Given the description of an element on the screen output the (x, y) to click on. 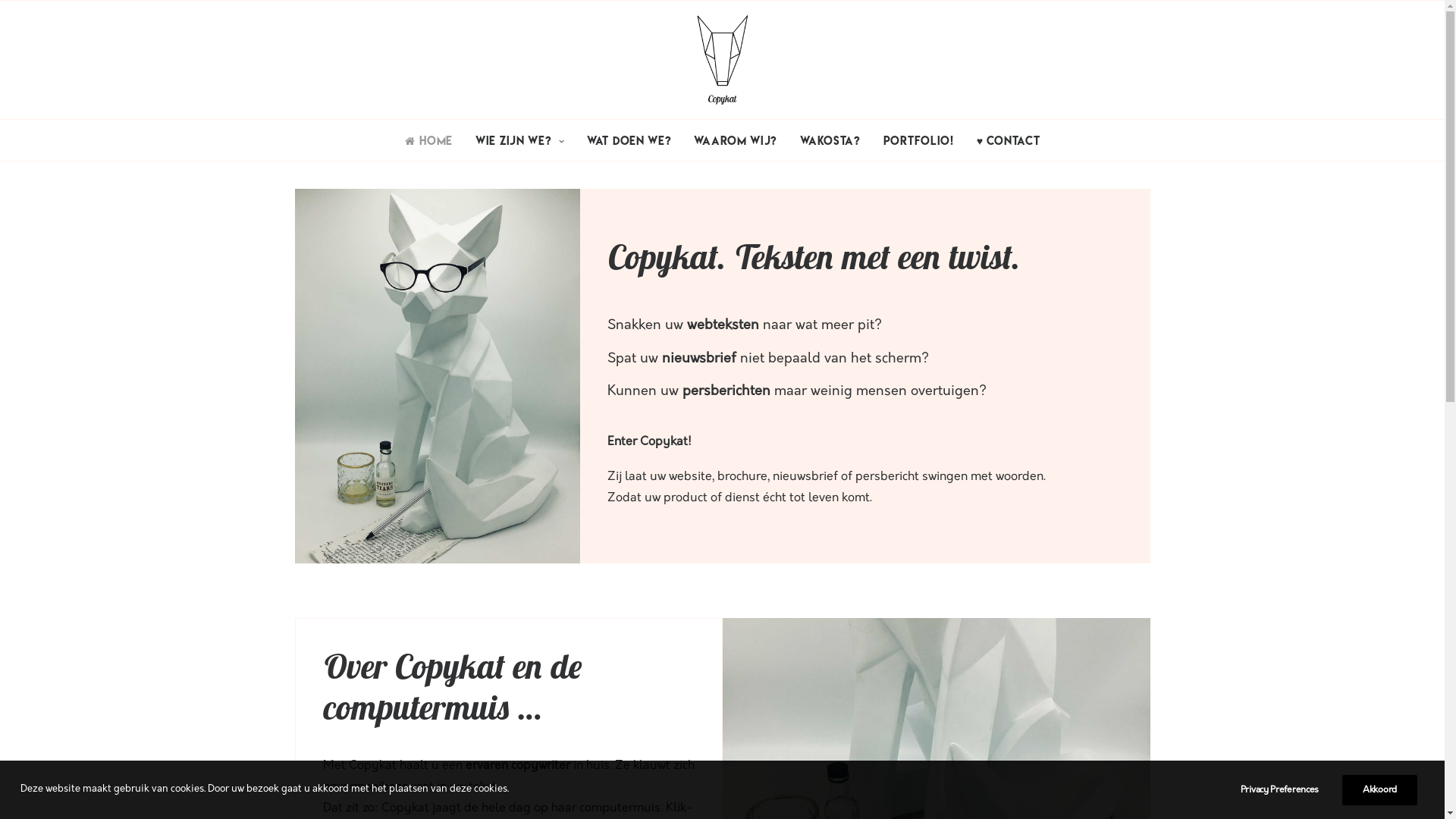
WIE ZIJN WE? Element type: text (519, 139)
Privacy Preferences Element type: text (1289, 789)
WAKOSTA? Element type: text (830, 139)
WAAROM WIJ? Element type: text (735, 139)
HOME Element type: text (433, 139)
PORTFOLIO! Element type: text (918, 139)
Akkoord Element type: text (1379, 790)
WAT DOEN WE? Element type: text (628, 139)
